Given the description of an element on the screen output the (x, y) to click on. 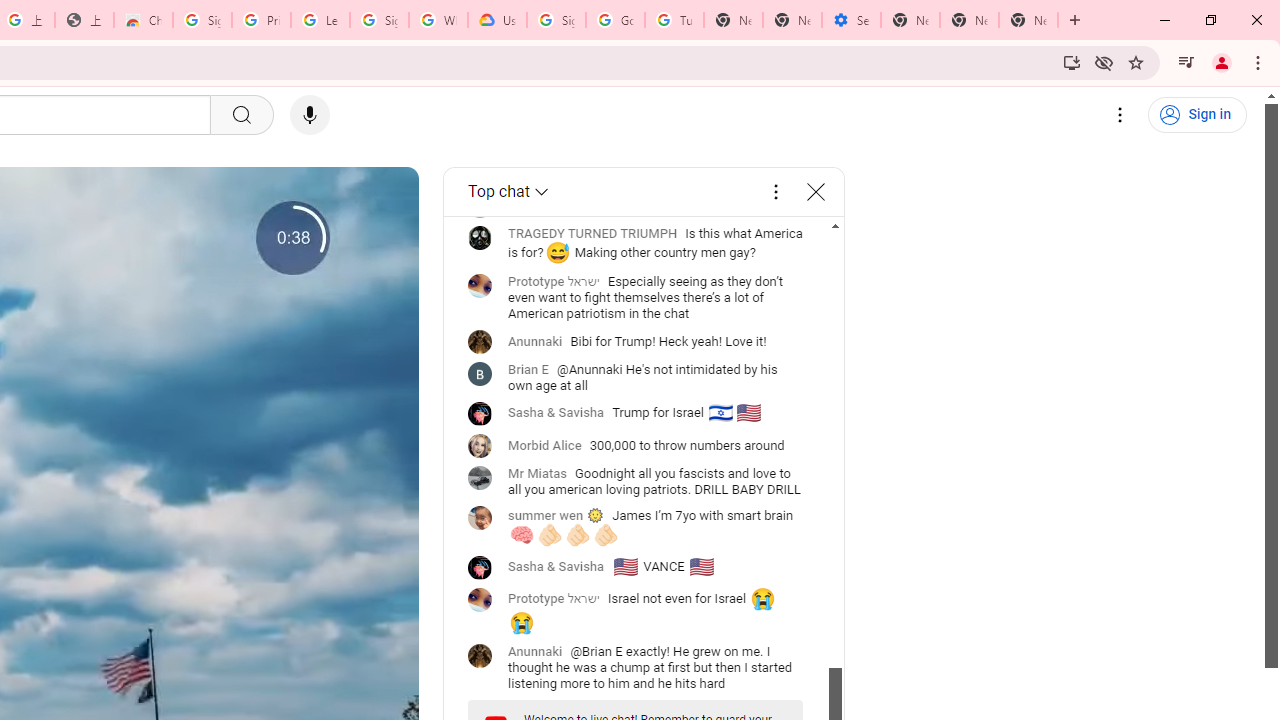
Sign in - Google Accounts (379, 20)
Google Account Help (615, 20)
Who are Google's partners? - Privacy and conditions - Google (438, 20)
Turn cookies on or off - Computer - Google Account Help (674, 20)
